Given the description of an element on the screen output the (x, y) to click on. 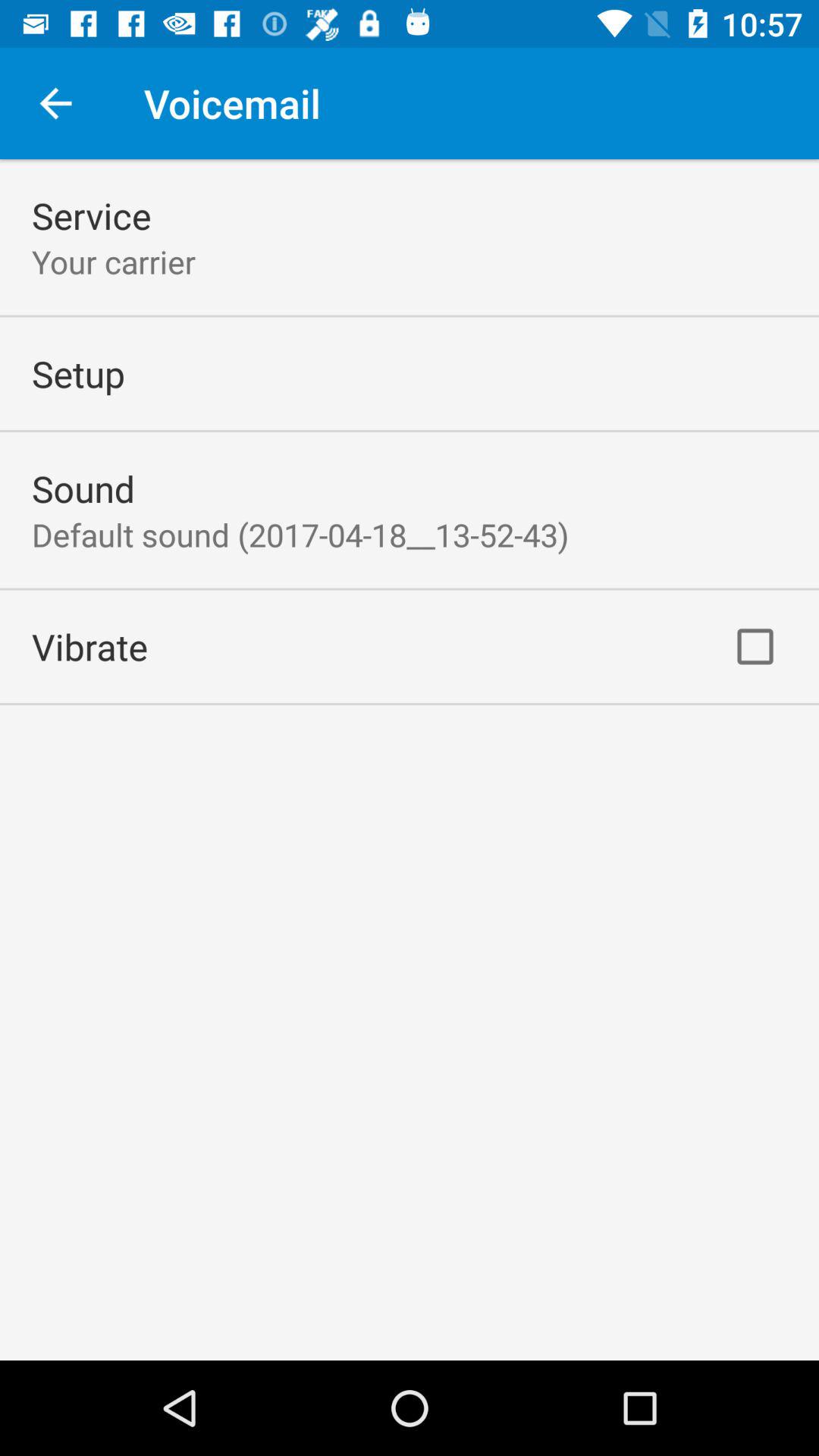
press the app below the sound app (299, 534)
